Given the description of an element on the screen output the (x, y) to click on. 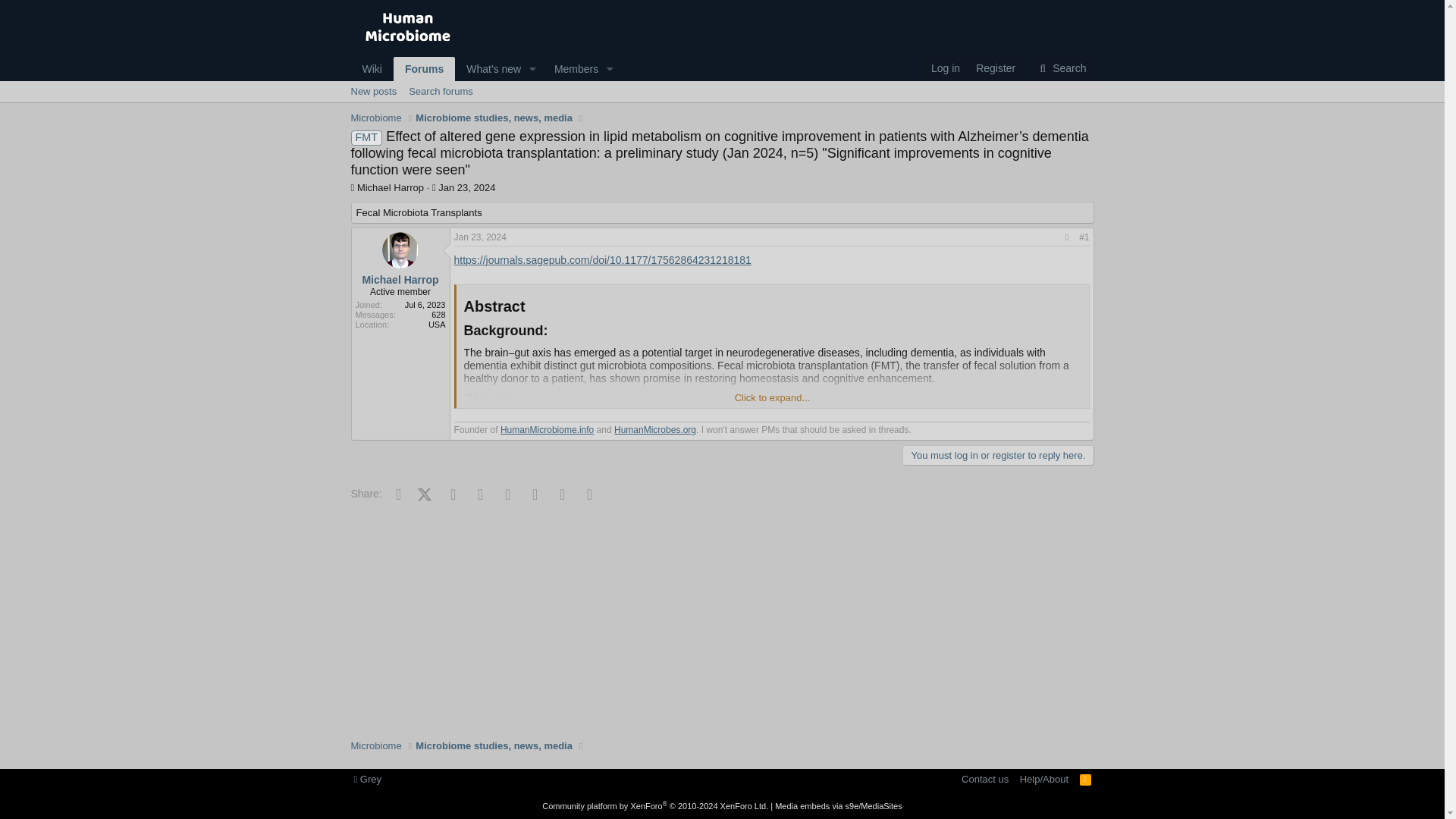
Microbiome (375, 118)
Search forums (441, 91)
Wiki (371, 68)
Members (571, 68)
New posts (721, 108)
What's new (373, 91)
Michael Harrop (488, 68)
Log in (389, 187)
Register (945, 68)
Search (995, 68)
Jan 23, 2024 (1060, 68)
Microbiome studies, news, media (484, 85)
